Given the description of an element on the screen output the (x, y) to click on. 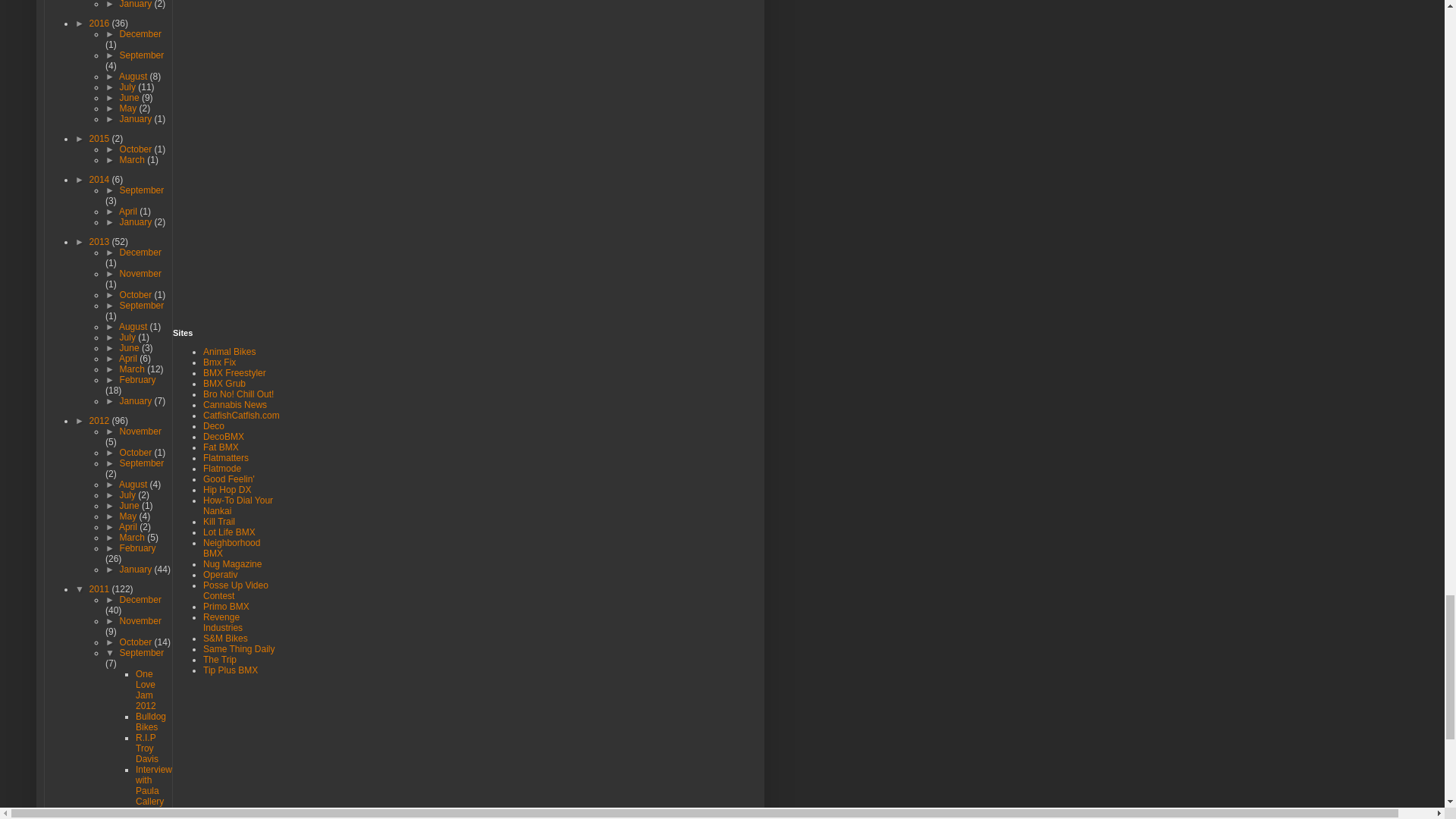
2016 (100, 23)
July (128, 86)
May (129, 108)
December (140, 33)
August (134, 76)
June (130, 97)
September (141, 54)
January (136, 4)
